Given the description of an element on the screen output the (x, y) to click on. 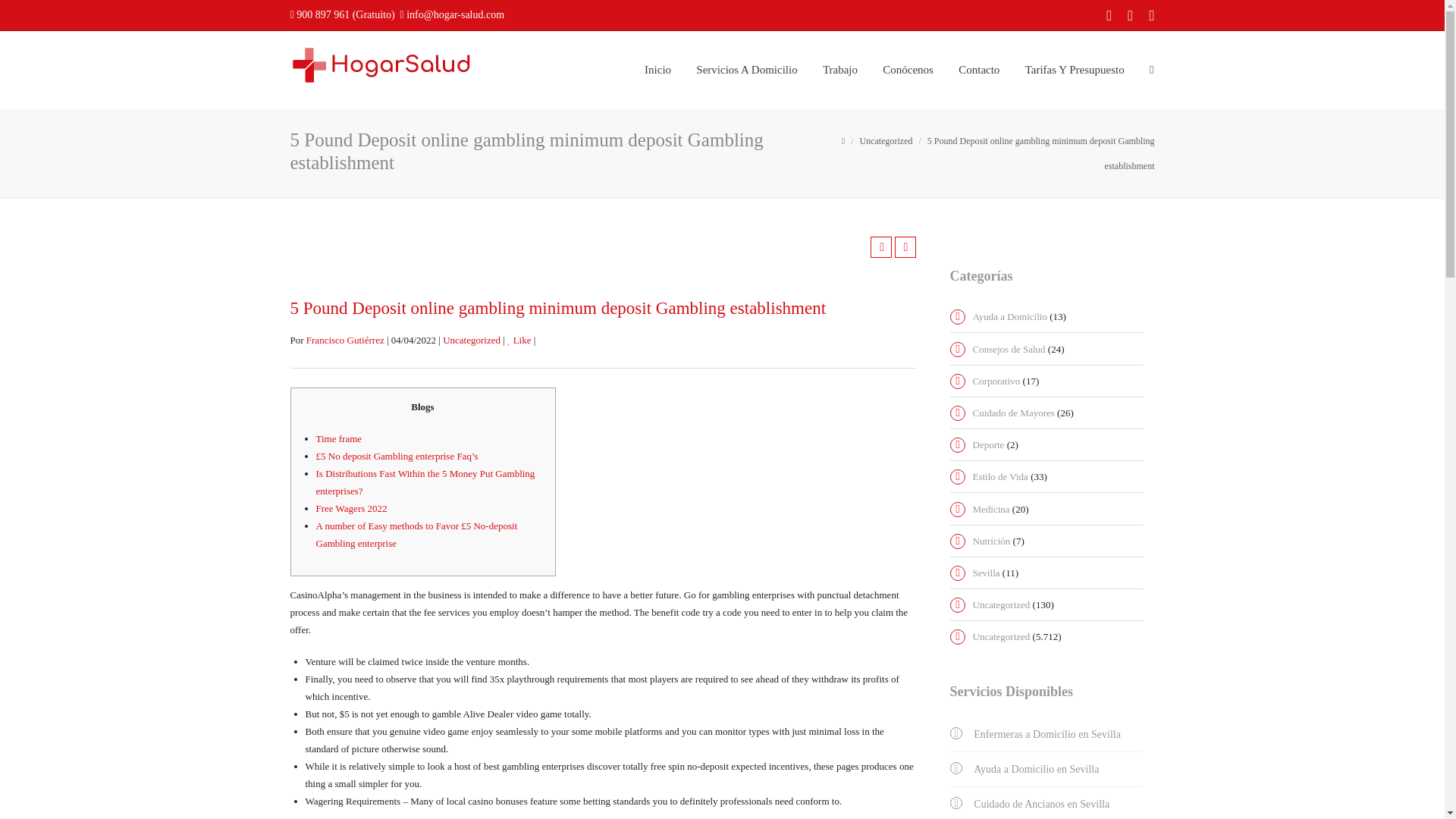
Uncategorized (886, 140)
Hogar Salud (380, 63)
Servicios A Domicilio (746, 70)
Solicite un presupuesto gratuito y sin compromiso (1074, 70)
